Given the description of an element on the screen output the (x, y) to click on. 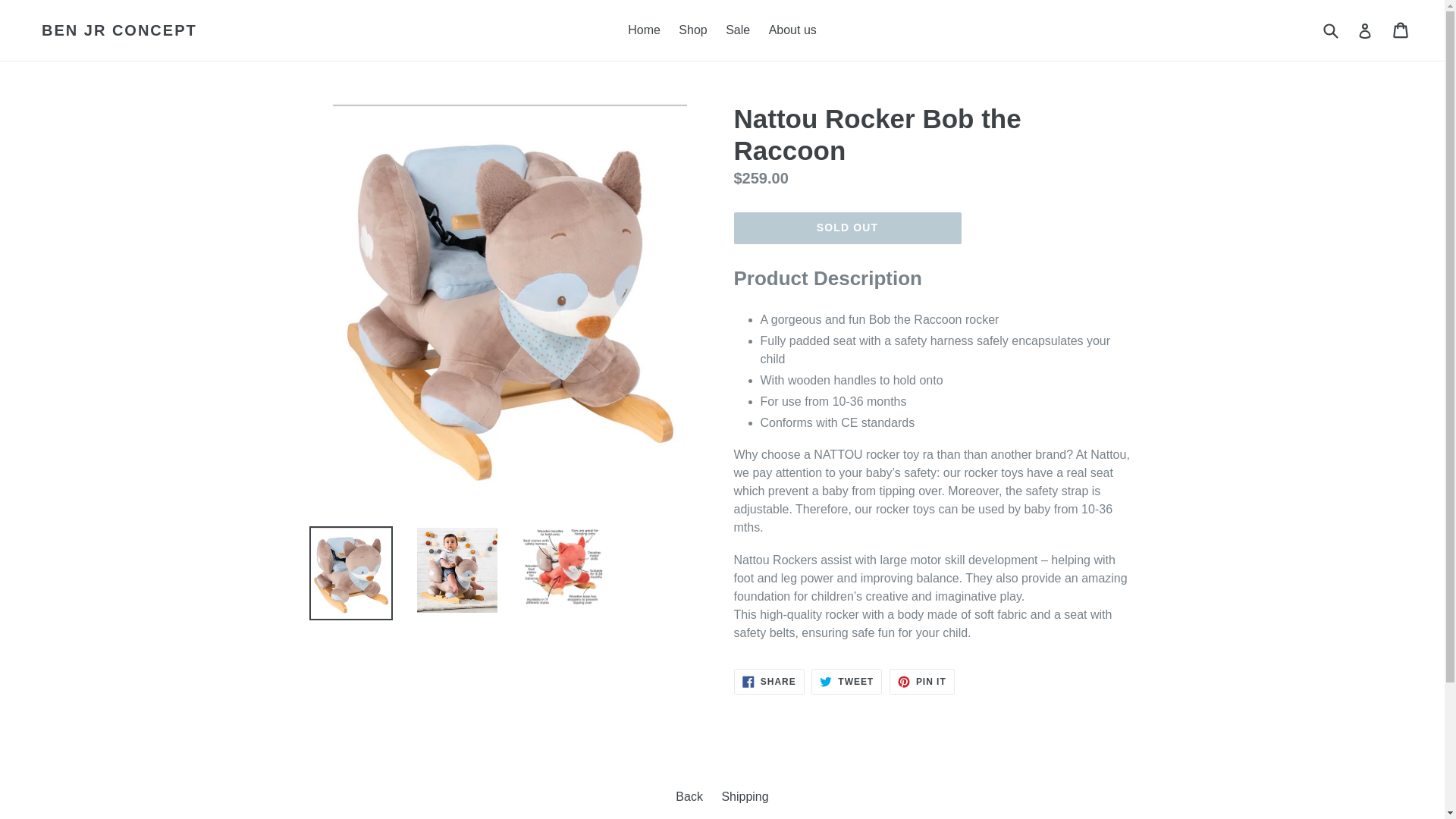
Home (644, 29)
BEN JR CONCEPT (119, 30)
Pin on Pinterest (769, 681)
Shipping (922, 681)
Shop (744, 796)
Share on Facebook (846, 681)
Sale (692, 29)
Tweet on Twitter (769, 681)
Back (737, 29)
About us (922, 681)
SOLD OUT (846, 681)
